Given the description of an element on the screen output the (x, y) to click on. 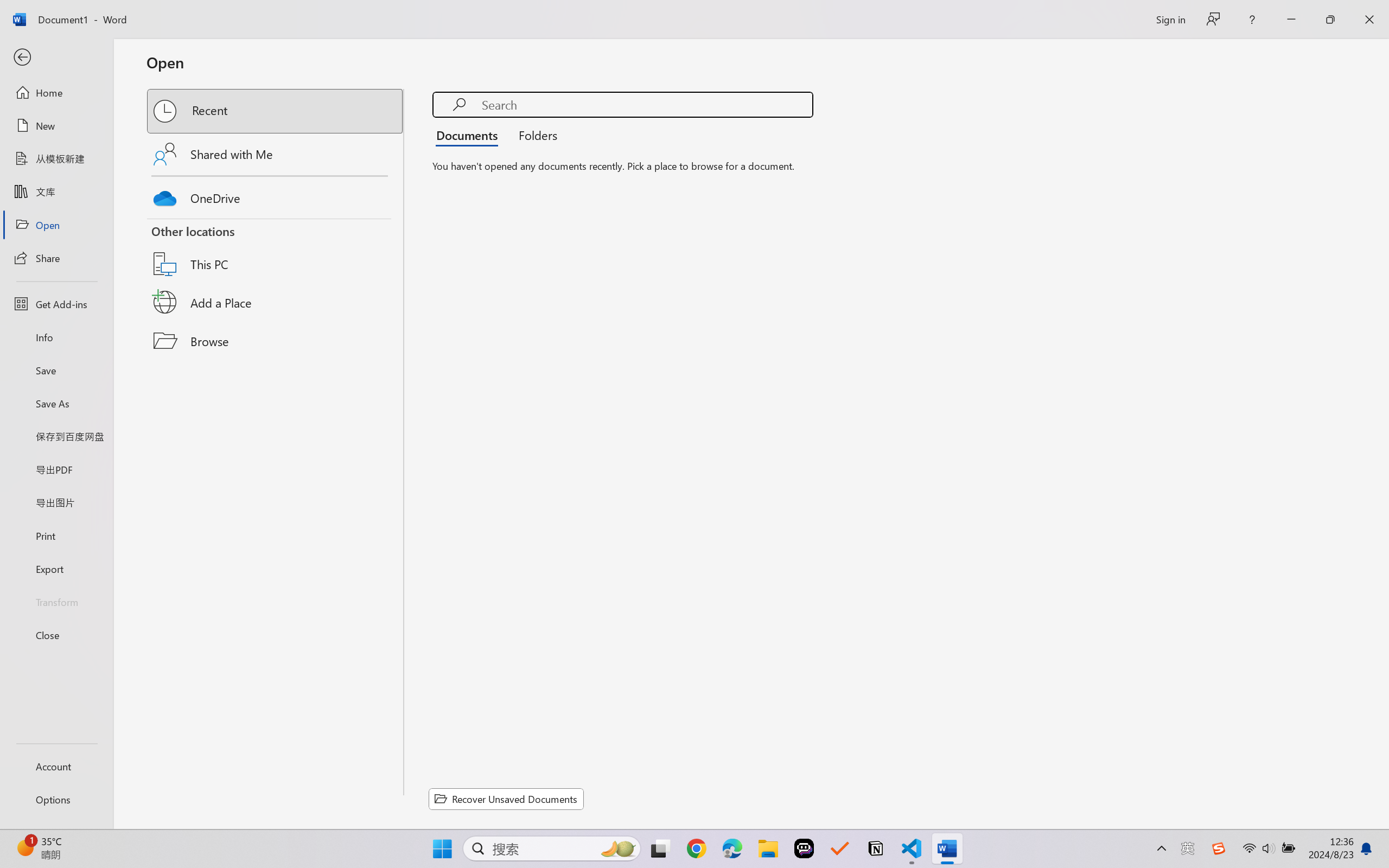
Save As (56, 403)
Back (56, 57)
Documents (469, 134)
Transform (56, 601)
Options (56, 798)
